Given the description of an element on the screen output the (x, y) to click on. 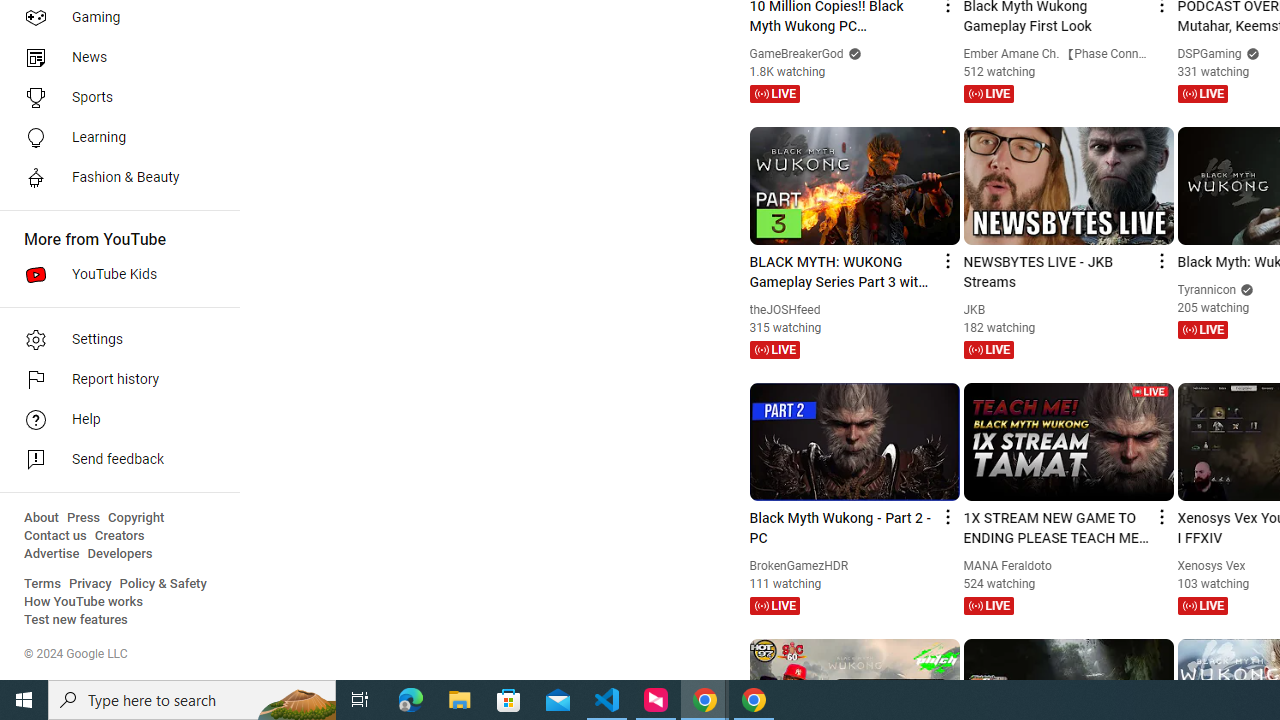
Tyrannicon (1207, 289)
Press (83, 518)
Send feedback (113, 459)
Verified (1245, 289)
Developers (120, 554)
MANA Feraldoto (1007, 566)
Sports (113, 97)
NEWSBYTES LIVE - JKB Streams by JKB 581 views (1055, 272)
News (113, 57)
About (41, 518)
DSPGaming (1209, 53)
Creators (118, 536)
How YouTube works (83, 602)
